Given the description of an element on the screen output the (x, y) to click on. 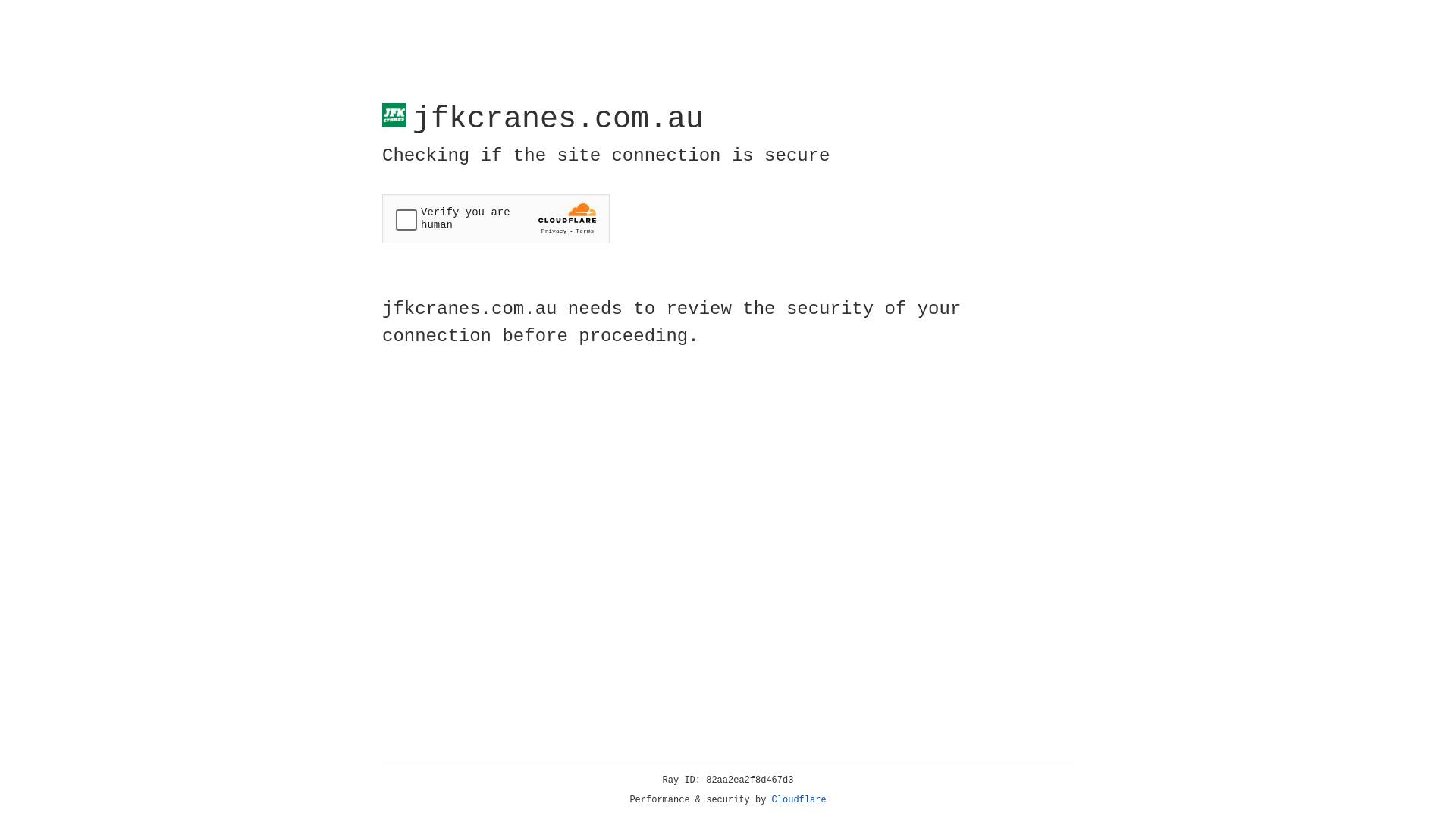
Cloudflare Element type: text (798, 799)
Widget containing a Cloudflare security challenge Element type: hover (495, 218)
